Given the description of an element on the screen output the (x, y) to click on. 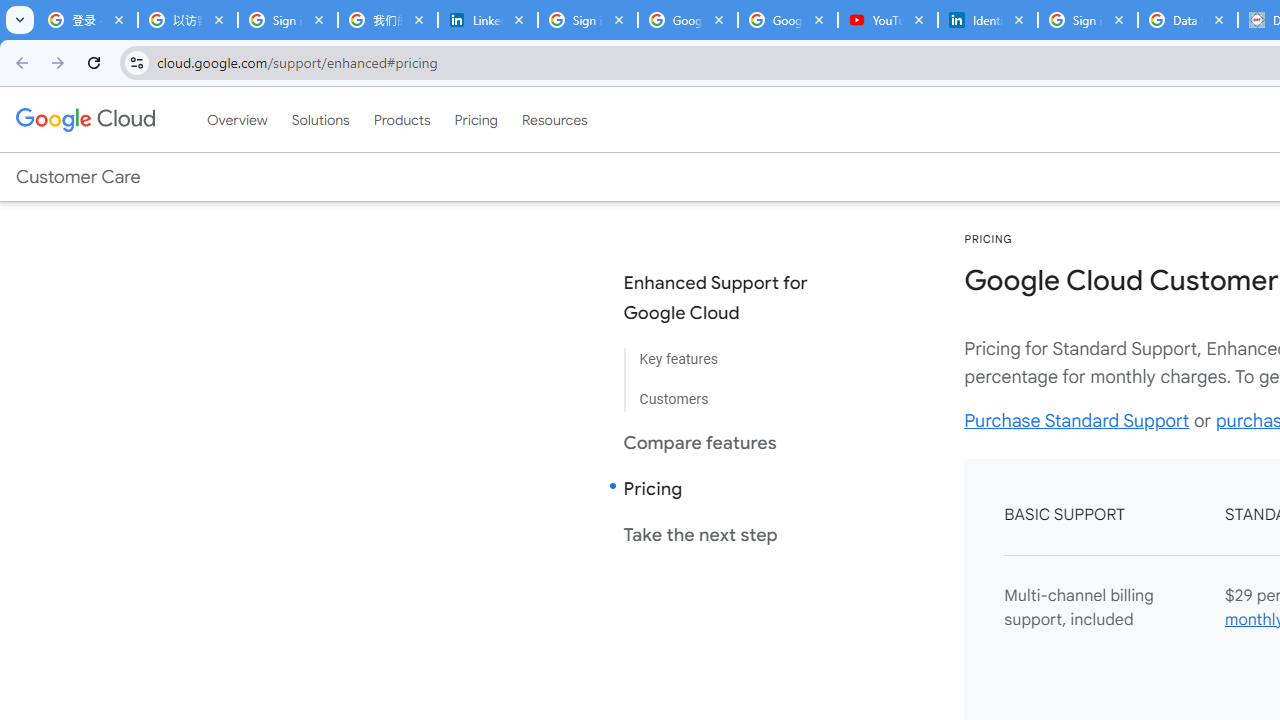
LinkedIn Privacy Policy (487, 20)
Sign in - Google Accounts (1087, 20)
Purchase Standard Support (1076, 420)
Compare features (732, 442)
